Given the description of an element on the screen output the (x, y) to click on. 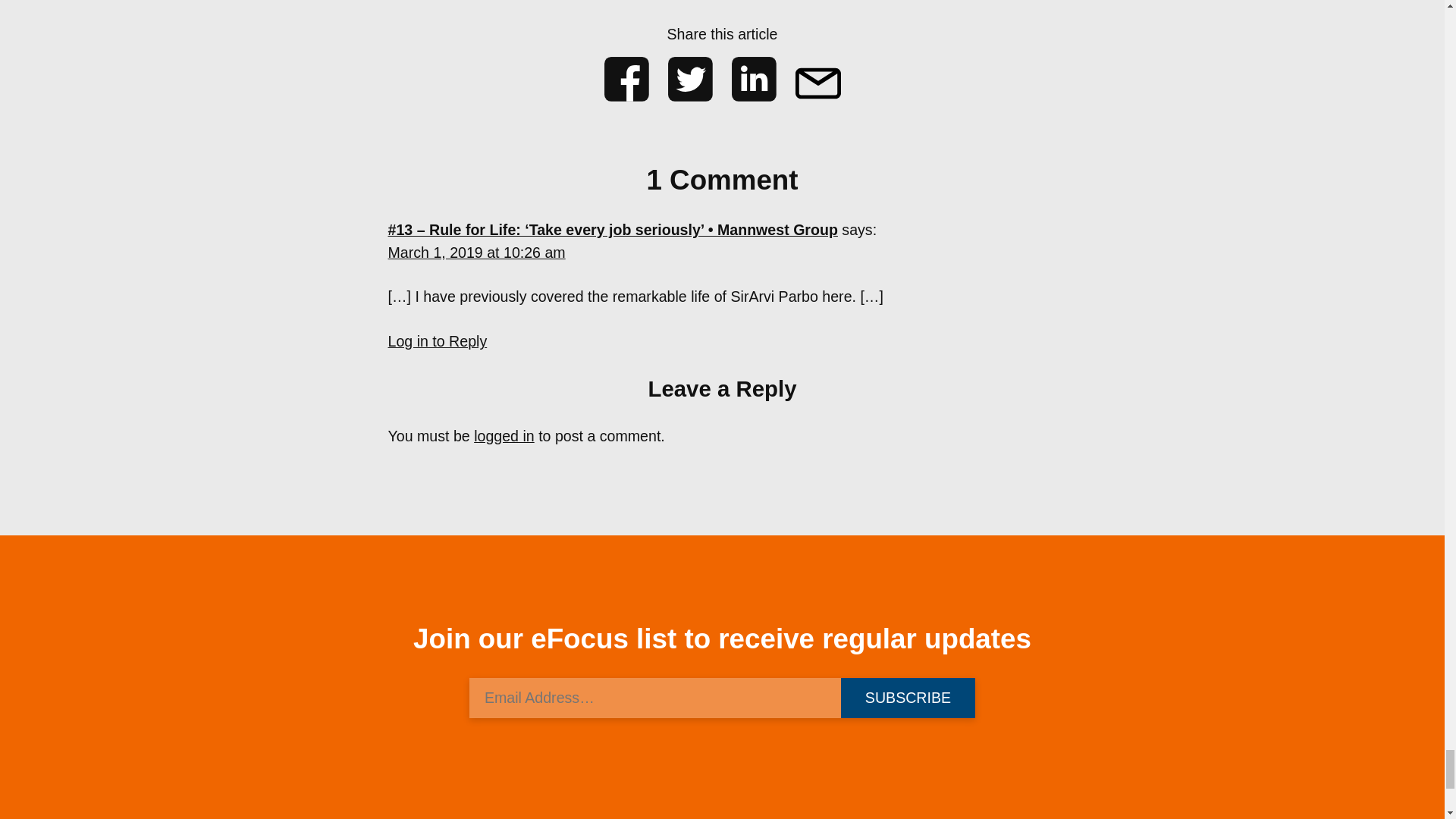
logged in (504, 435)
March 1, 2019 at 10:26 am (477, 252)
Twitter (690, 78)
SUBSCRIBE (907, 697)
Facebook (626, 78)
Linkedin (754, 78)
Log in to Reply (437, 340)
Email (817, 78)
